Given the description of an element on the screen output the (x, y) to click on. 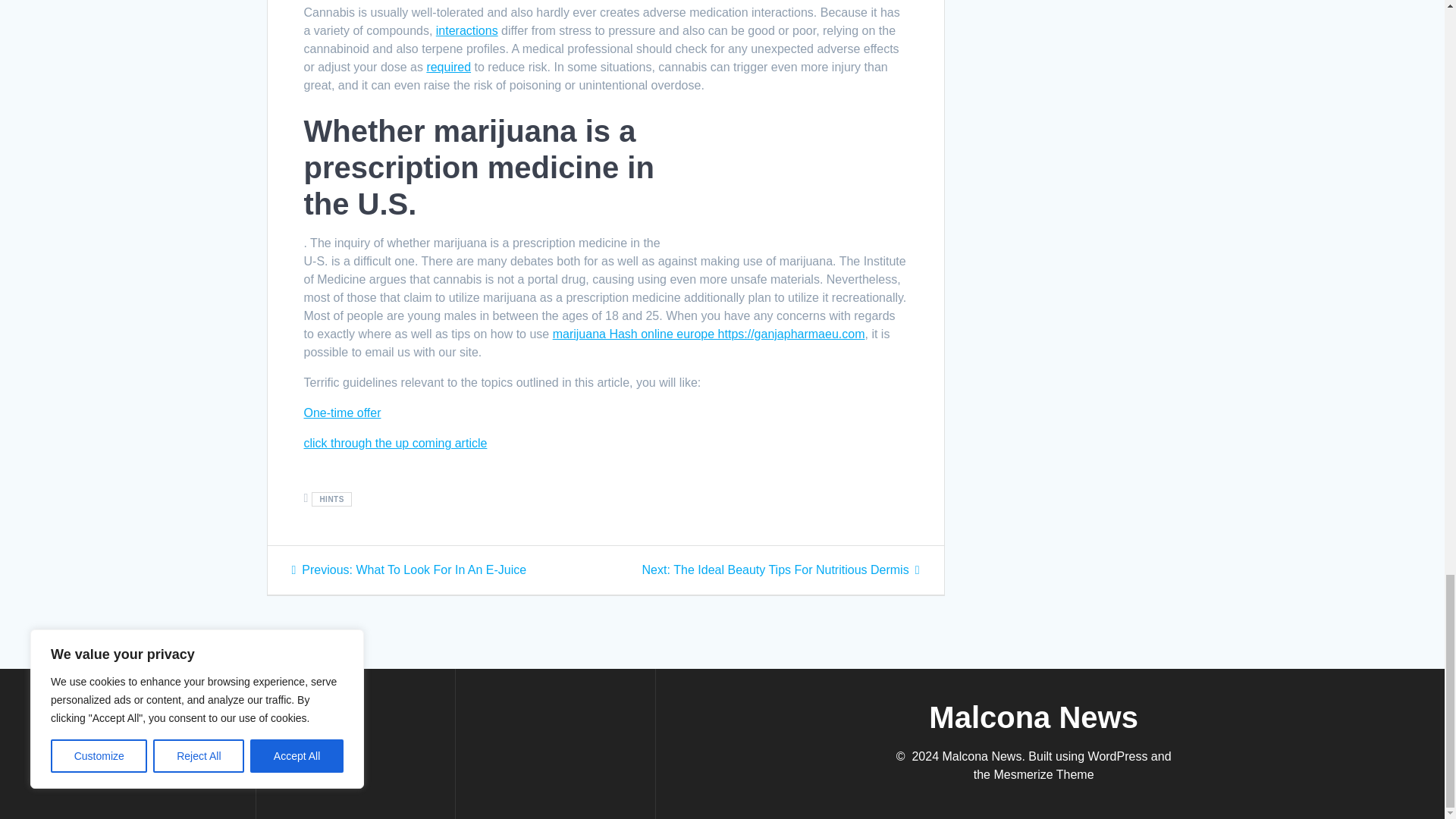
interactions (466, 30)
required (448, 66)
One-time offer (341, 412)
HINTS (331, 499)
click through the up coming article (394, 442)
